Given the description of an element on the screen output the (x, y) to click on. 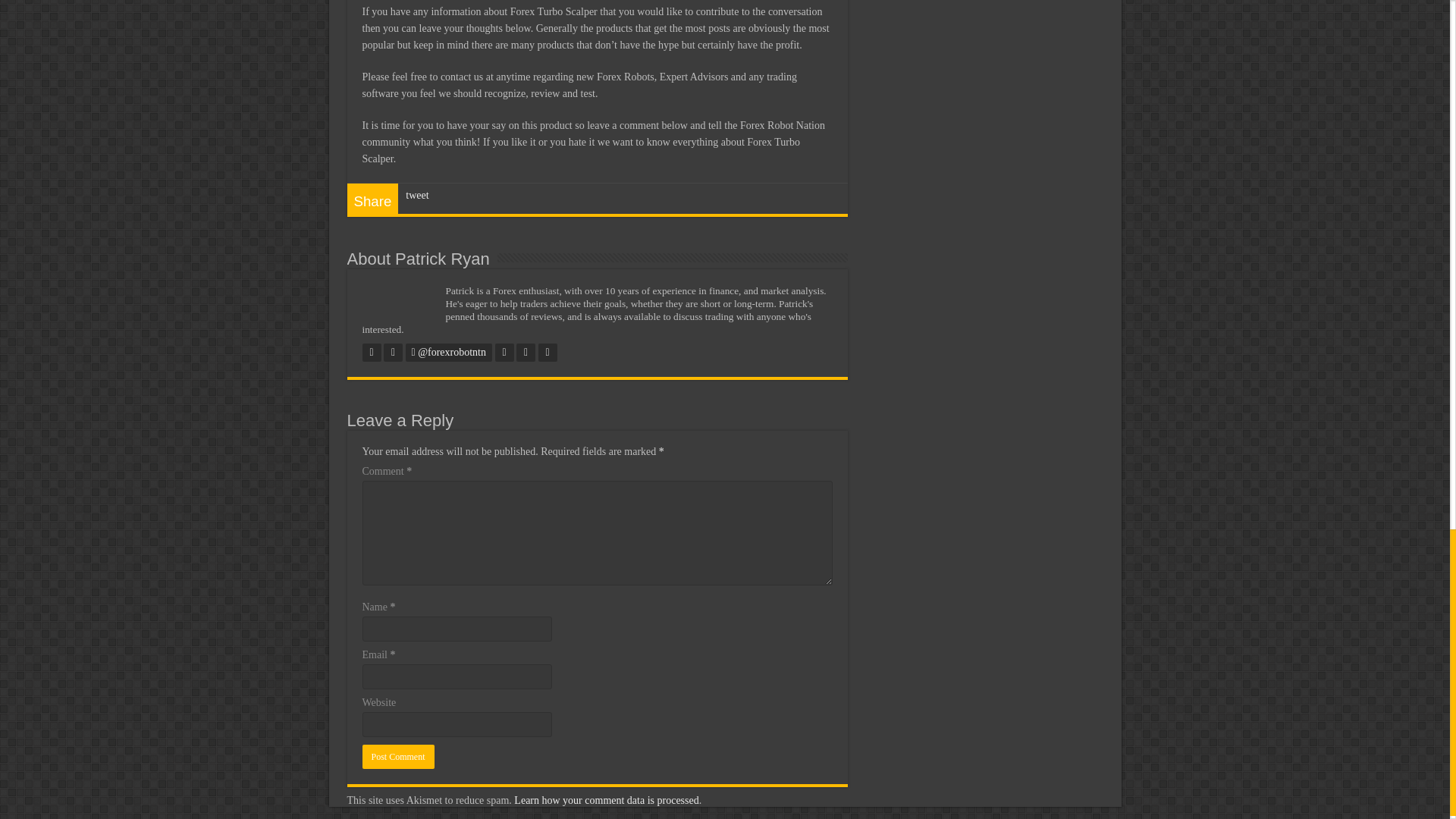
tweet (417, 194)
Post Comment (397, 756)
Learn how your comment data is processed (605, 799)
Post Comment (397, 756)
